Given the description of an element on the screen output the (x, y) to click on. 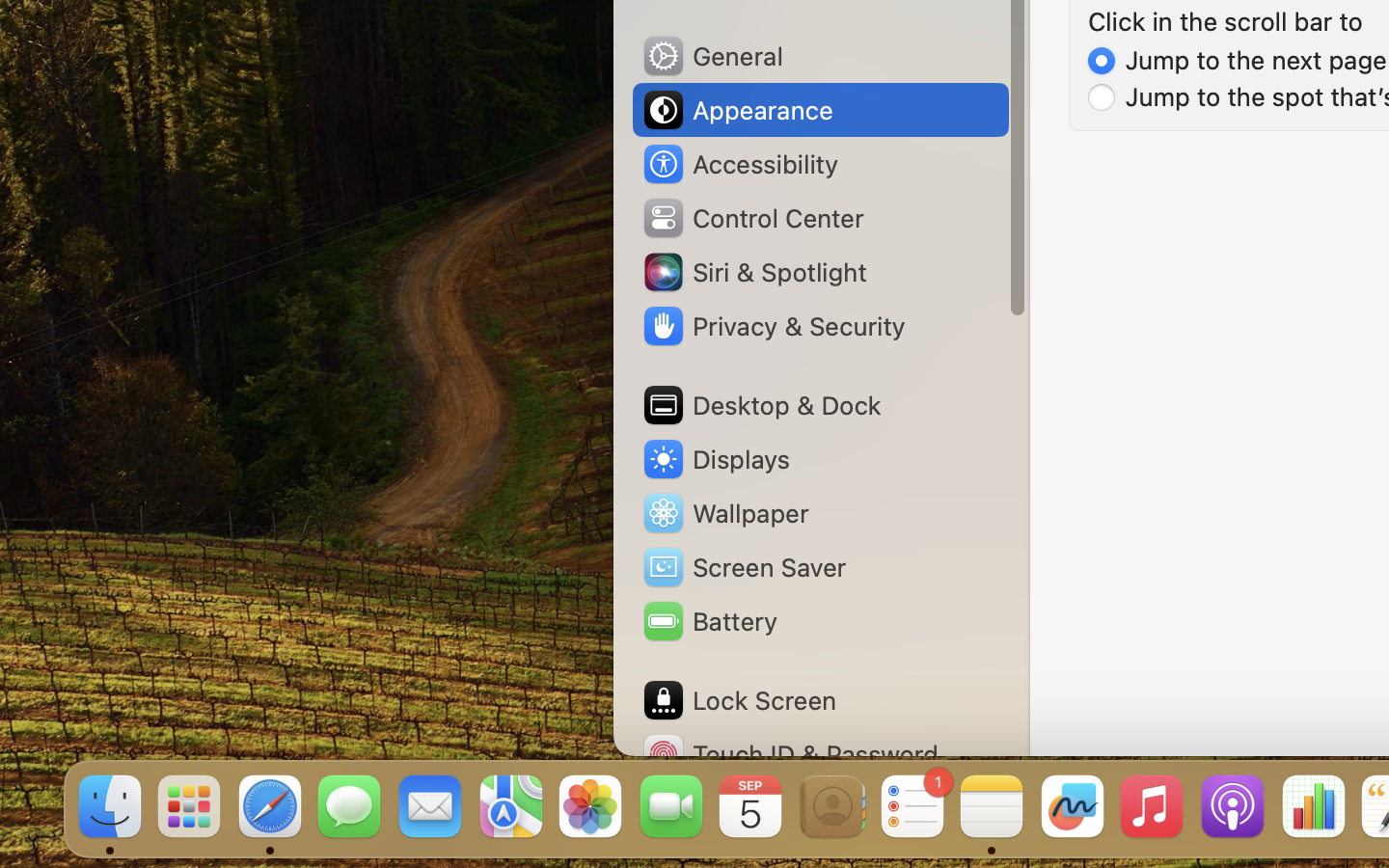
Lock Screen Element type: AXStaticText (738, 700)
Battery Element type: AXStaticText (708, 620)
1 Element type: AXRadioButton (1237, 59)
Touch ID & Password Element type: AXStaticText (789, 754)
Desktop & Dock Element type: AXStaticText (760, 404)
